Given the description of an element on the screen output the (x, y) to click on. 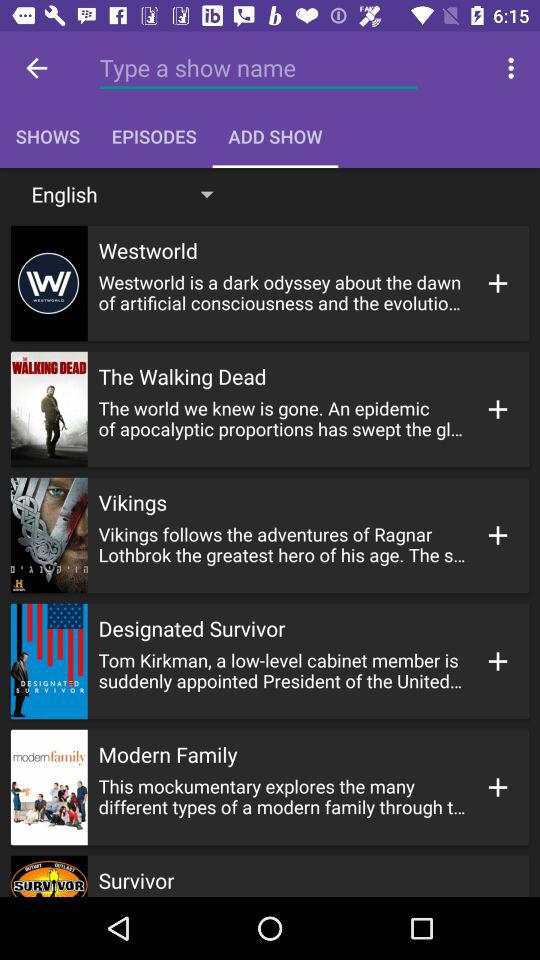
digit a show name (258, 67)
